Given the description of an element on the screen output the (x, y) to click on. 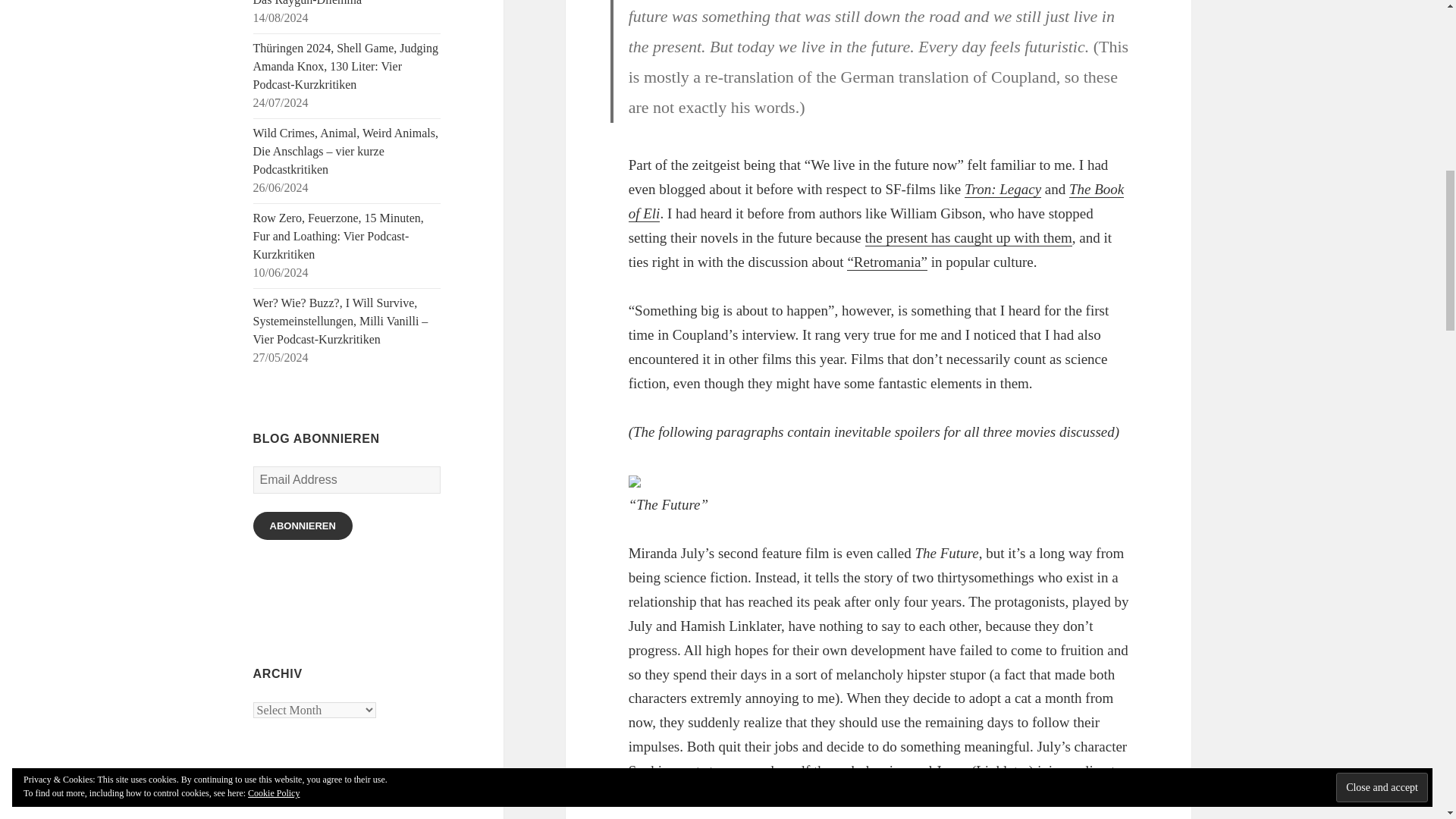
ABONNIEREN (302, 525)
The Book of Eli (876, 200)
Das Raygun-Dilemma (307, 2)
Tron: Legacy (1002, 189)
the present has caught up with them (967, 238)
